Given the description of an element on the screen output the (x, y) to click on. 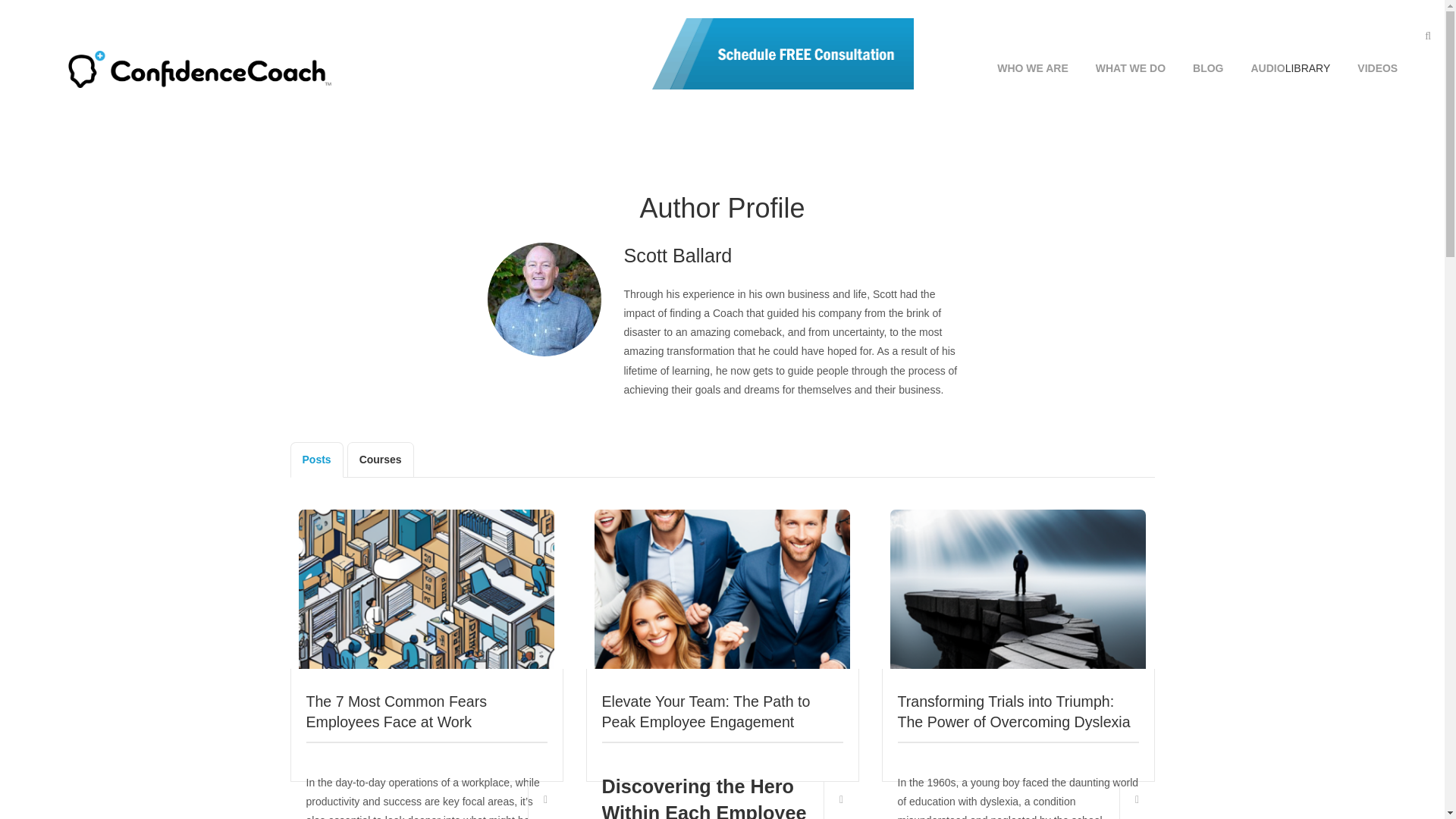
Posts (315, 459)
Share (544, 800)
Share (841, 800)
VIDEOS (1376, 46)
WHO WE ARE (1032, 46)
Share (1136, 800)
BLOG (1207, 46)
Elevate Your Team: The Path to Peak Employee Engagement (706, 711)
Courses (380, 459)
